Given the description of an element on the screen output the (x, y) to click on. 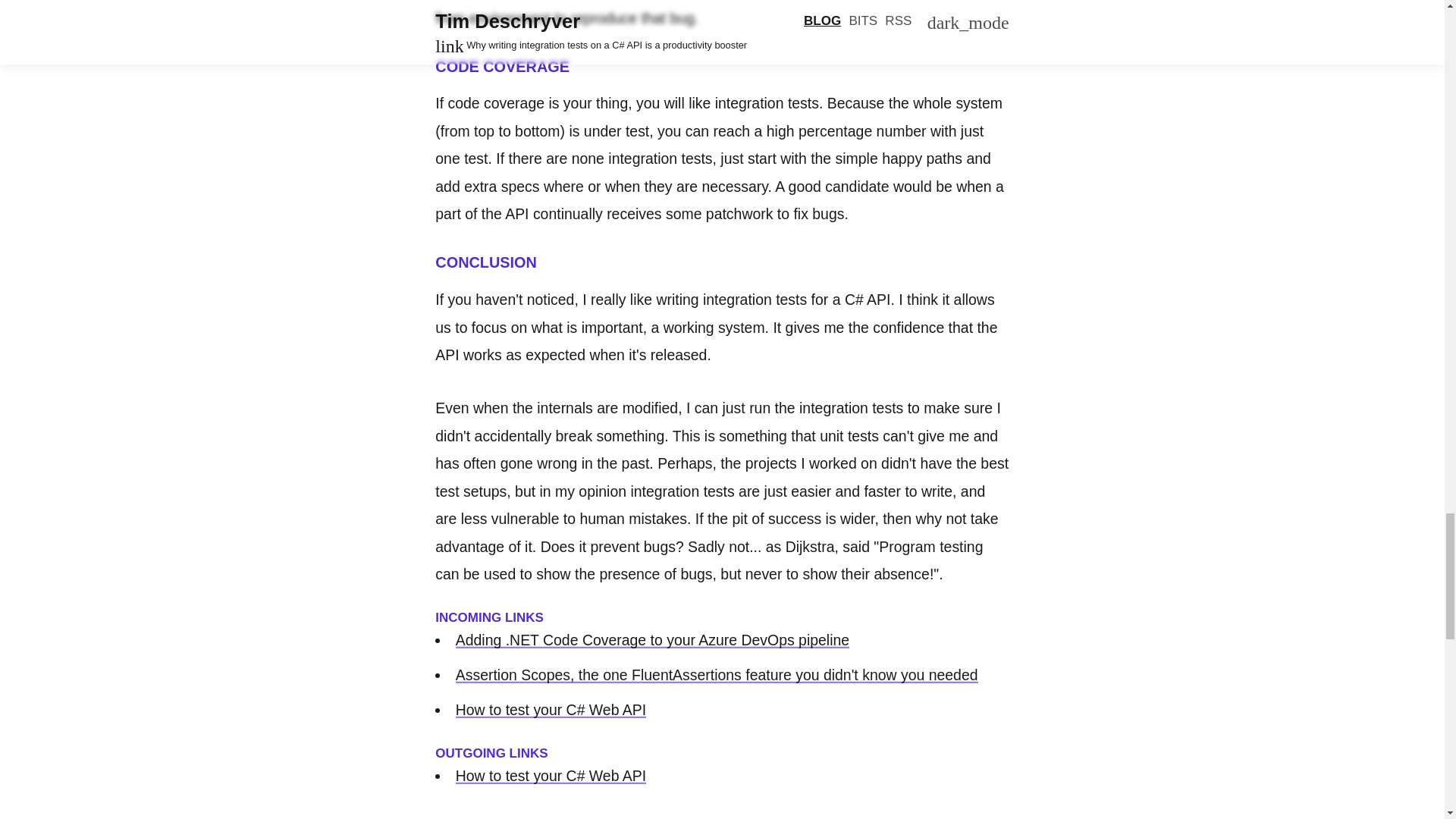
CONCLUSION (486, 262)
CODE COVERAGE (502, 66)
Adding .NET Code Coverage to your Azure DevOps pipeline (651, 639)
